Given the description of an element on the screen output the (x, y) to click on. 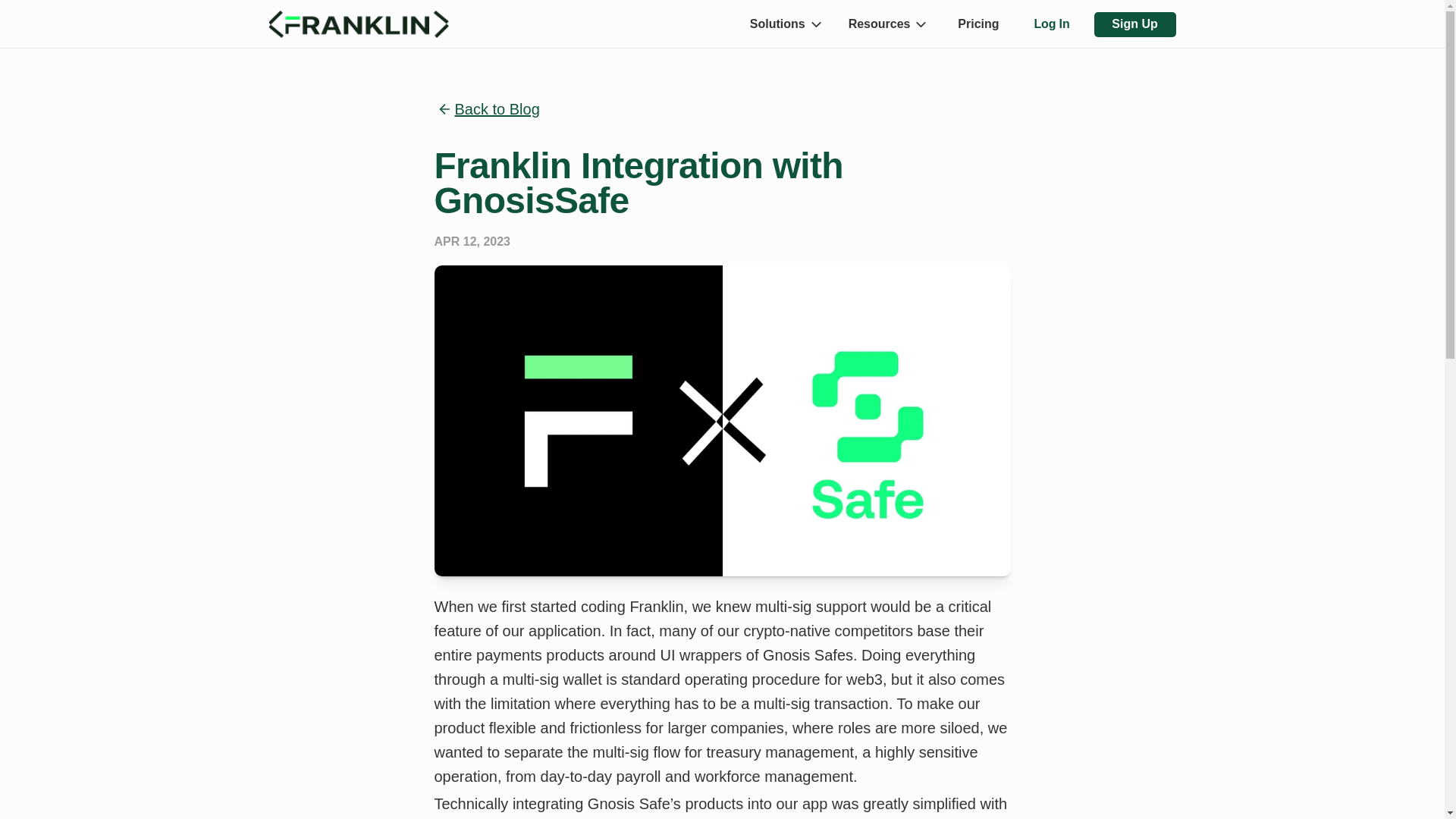
Back to Blog (497, 108)
Pricing (978, 23)
Sign Up (1133, 24)
Log In (1050, 23)
